Given the description of an element on the screen output the (x, y) to click on. 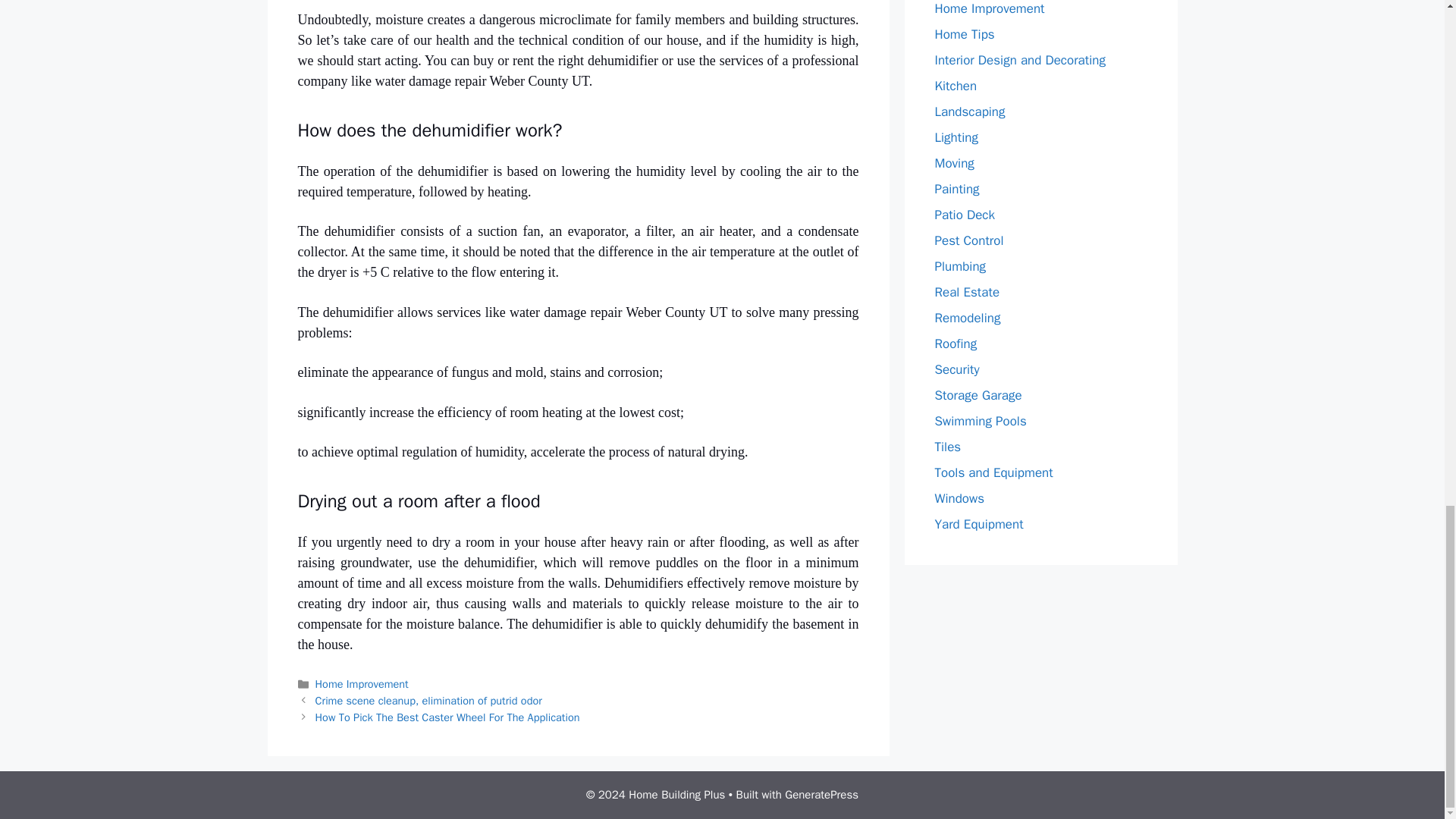
Crime scene cleanup, elimination of putrid odor (428, 700)
How To Pick The Best Caster Wheel For The Application (447, 716)
Home Improvement (362, 684)
